Given the description of an element on the screen output the (x, y) to click on. 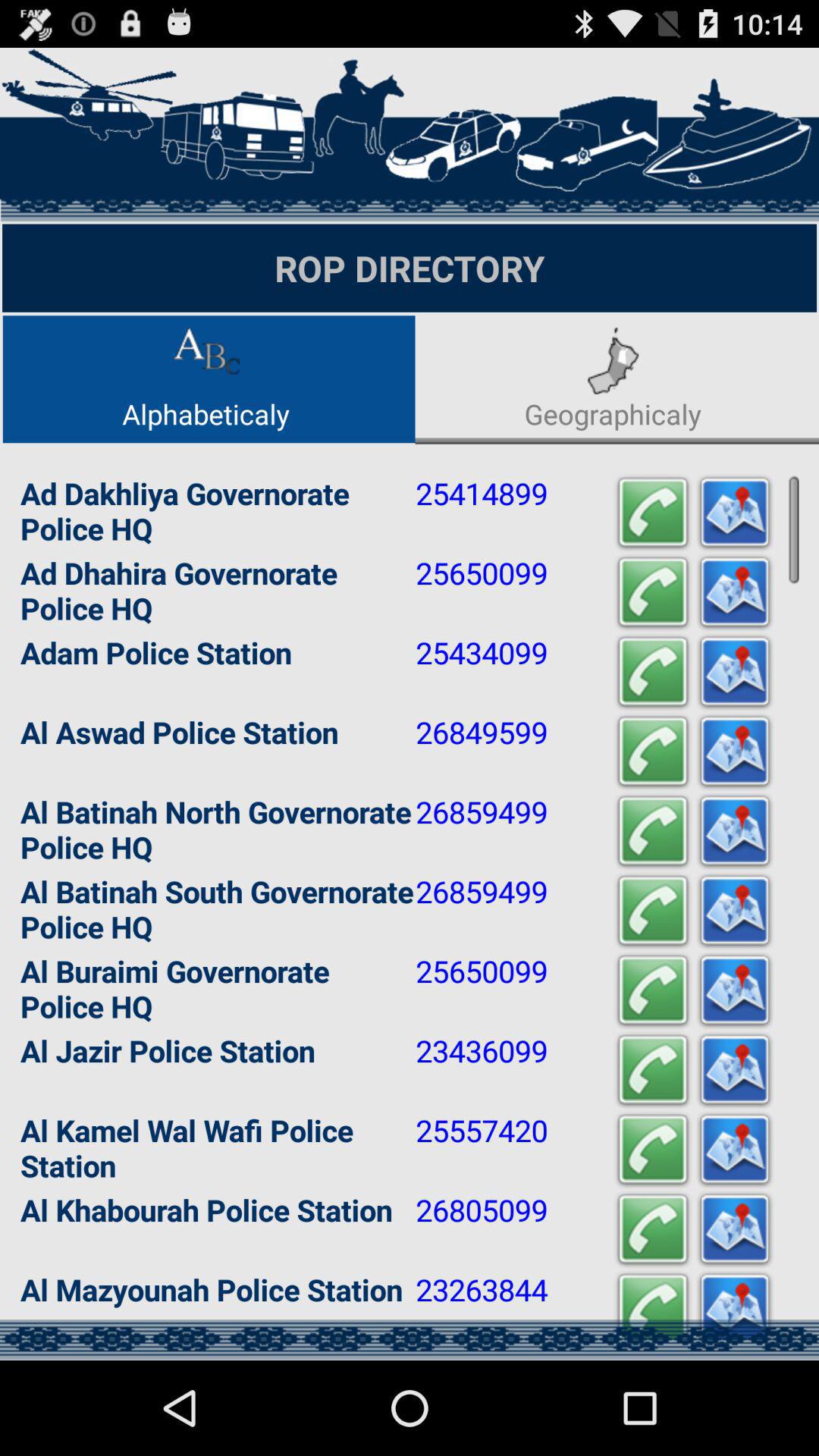
open map for advertisement dakhliya governorate police hq (734, 512)
